Given the description of an element on the screen output the (x, y) to click on. 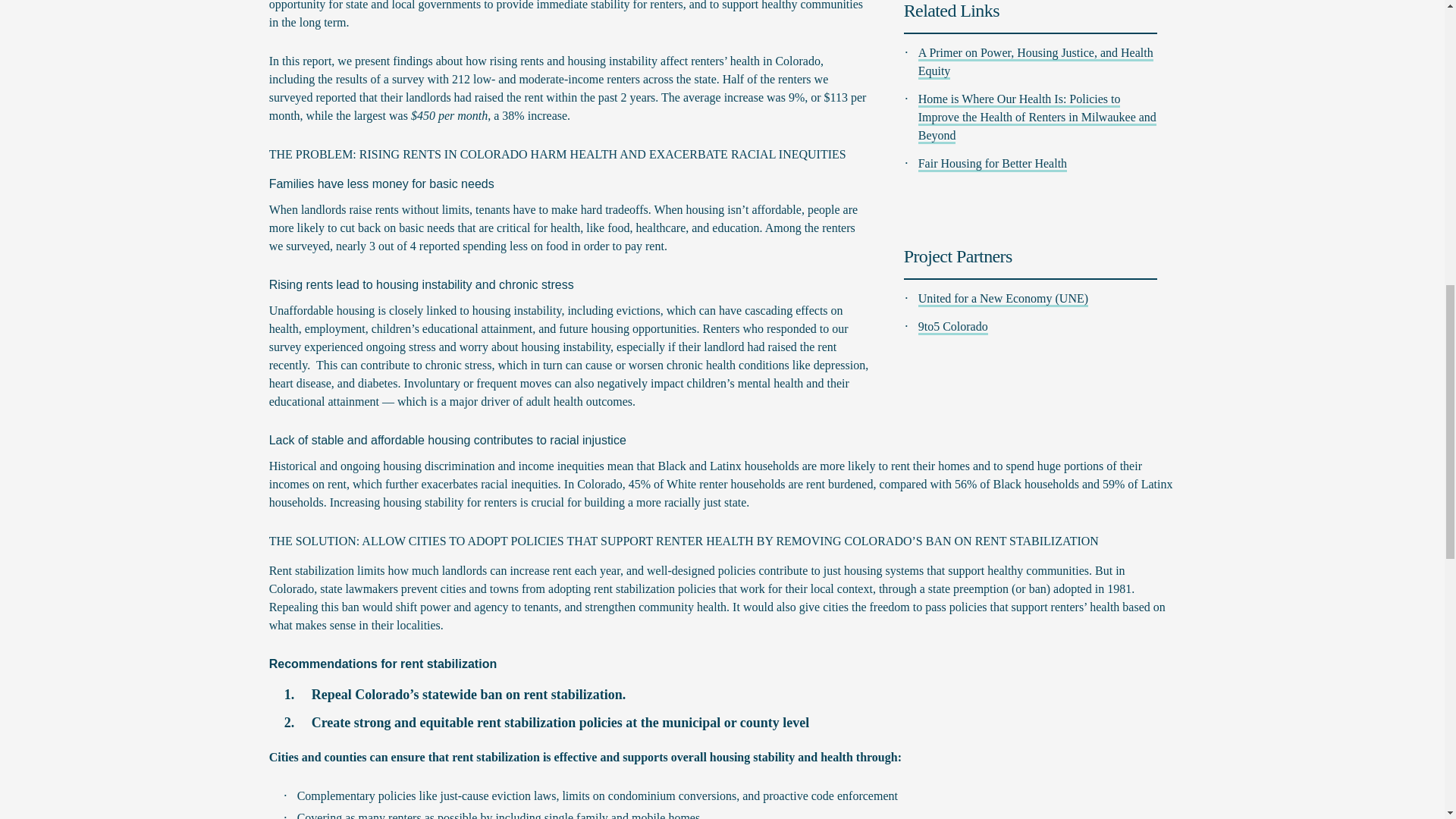
Fair Housing for Better Health (992, 164)
9to5 Colorado (953, 327)
A Primer on Power, Housing Justice, and Health Equity (1035, 62)
